Given the description of an element on the screen output the (x, y) to click on. 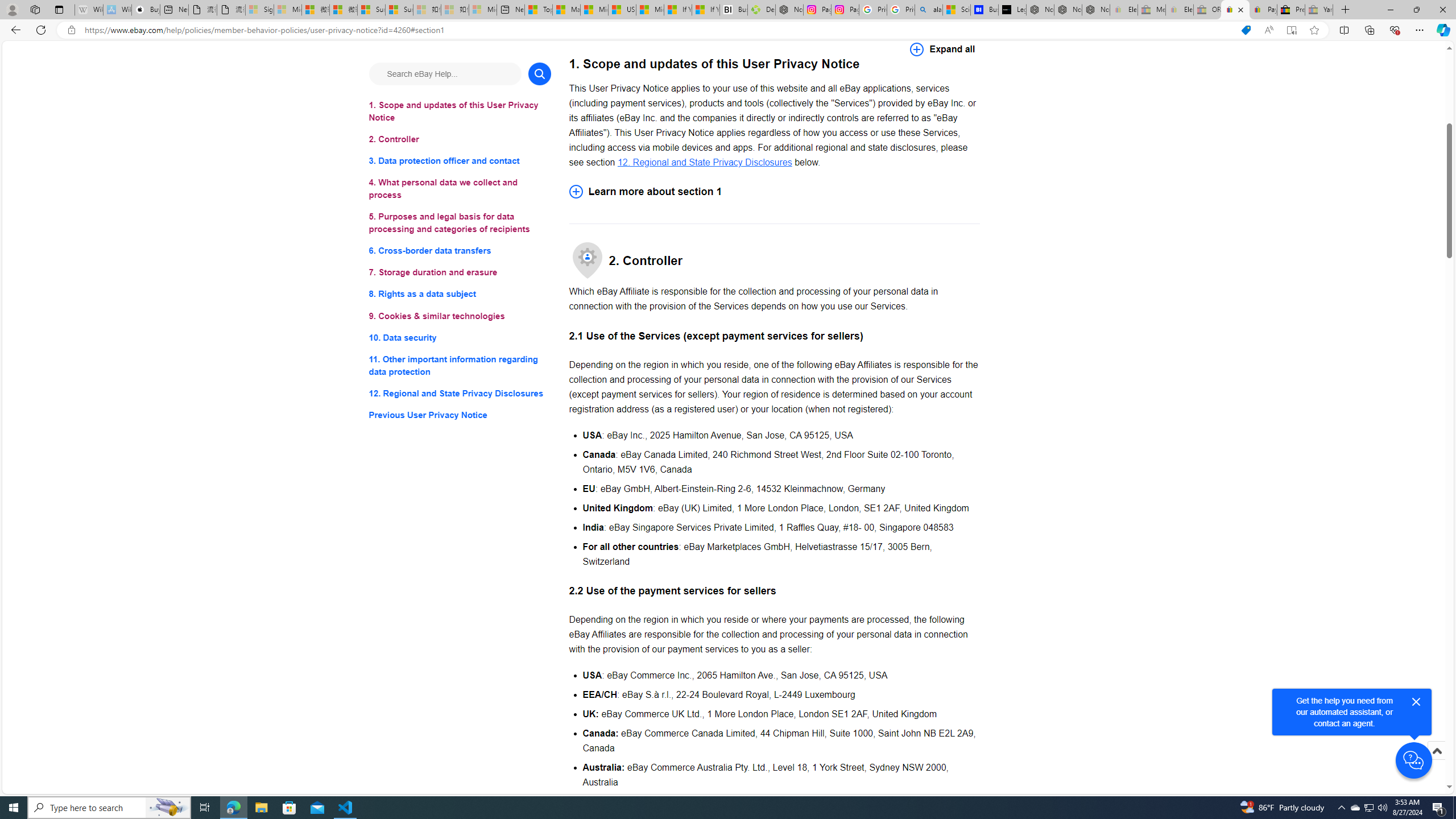
10. Data security (459, 336)
6. Cross-border data transfers (459, 250)
7. Storage duration and erasure (459, 272)
1. Scope and updates of this User Privacy Notice (459, 111)
